Given the description of an element on the screen output the (x, y) to click on. 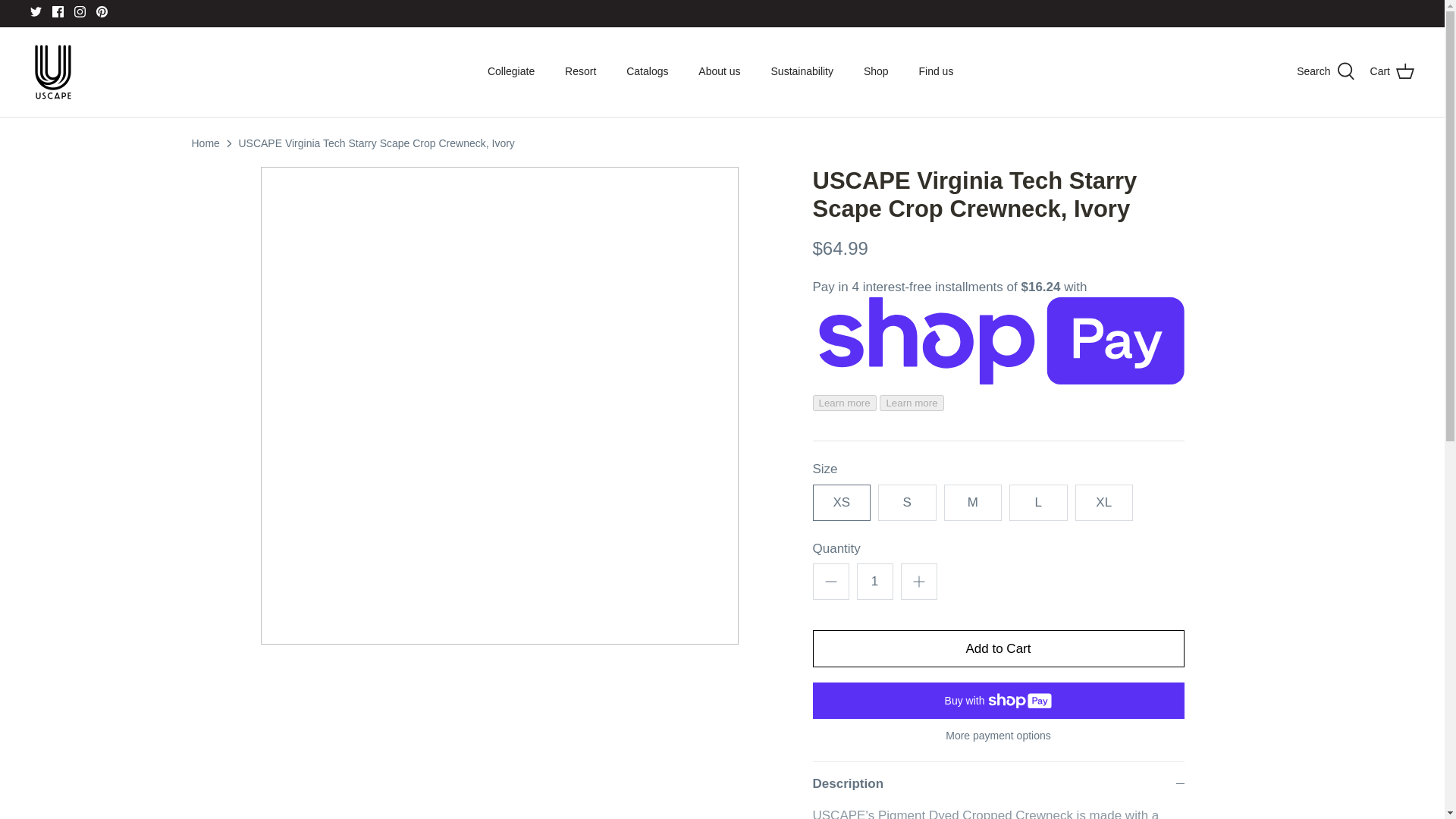
Pinterest (101, 11)
Twitter (36, 11)
Search (1325, 71)
Collegiate (511, 71)
Sustainability (802, 71)
Minus (831, 581)
Resort (580, 71)
Find us (936, 71)
About us (719, 71)
1 (875, 581)
Instagram (79, 11)
Facebook (58, 11)
Twitter (36, 11)
Cart (1391, 71)
Pinterest (101, 11)
